Given the description of an element on the screen output the (x, y) to click on. 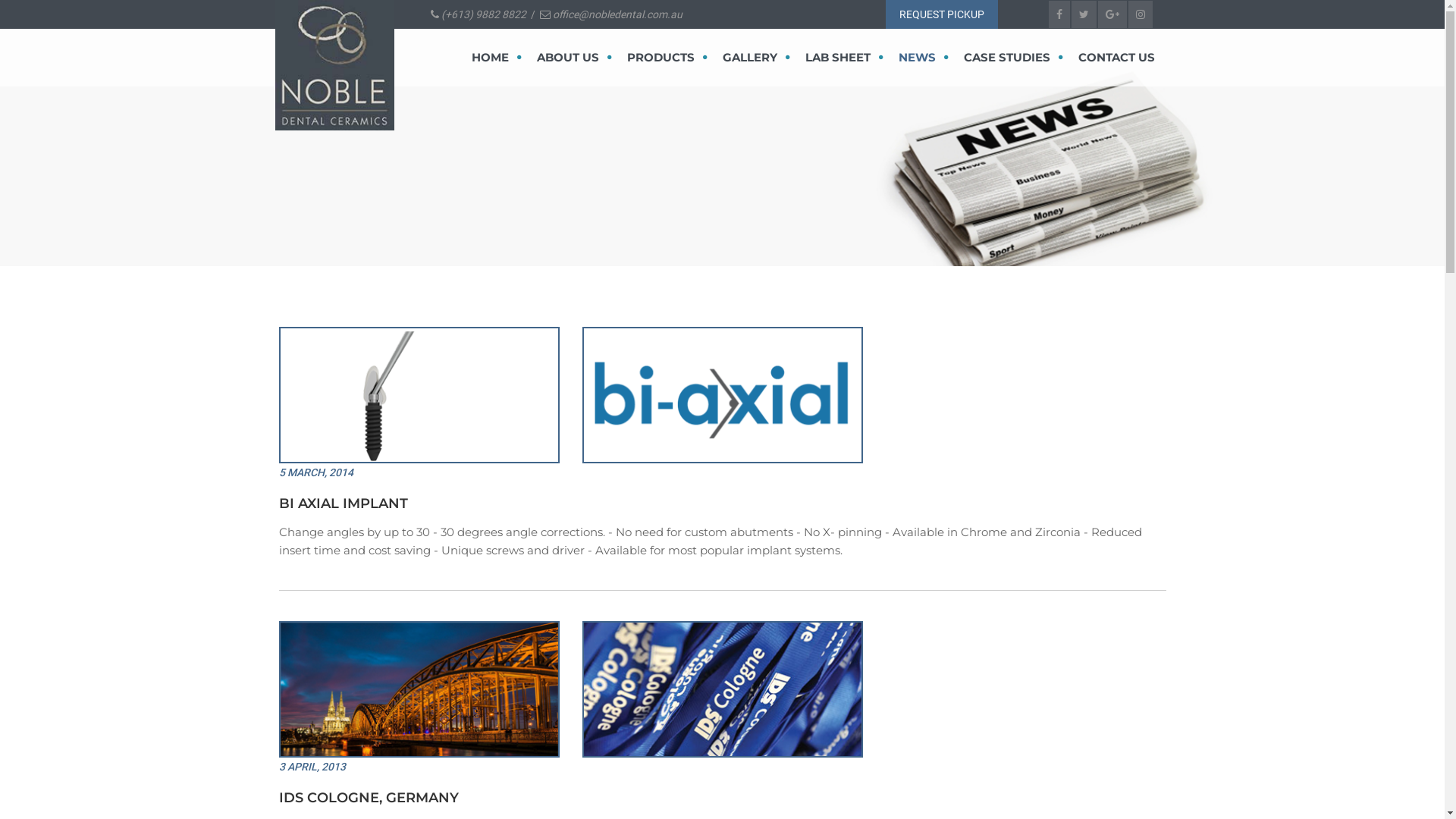
GALLERY Element type: text (755, 57)
PRODUCTS Element type: text (666, 57)
CONTACT US Element type: text (1112, 57)
HOME Element type: text (496, 57)
LAB SHEET Element type: text (844, 57)
(+613) 9882 8822 Element type: text (481, 14)
ABOUT US Element type: text (574, 57)
office@nobledental.com.au Element type: text (616, 14)
REQUEST PICKUP Element type: text (941, 14)
NEWS Element type: text (922, 57)
CASE STUDIES Element type: text (1012, 57)
